Given the description of an element on the screen output the (x, y) to click on. 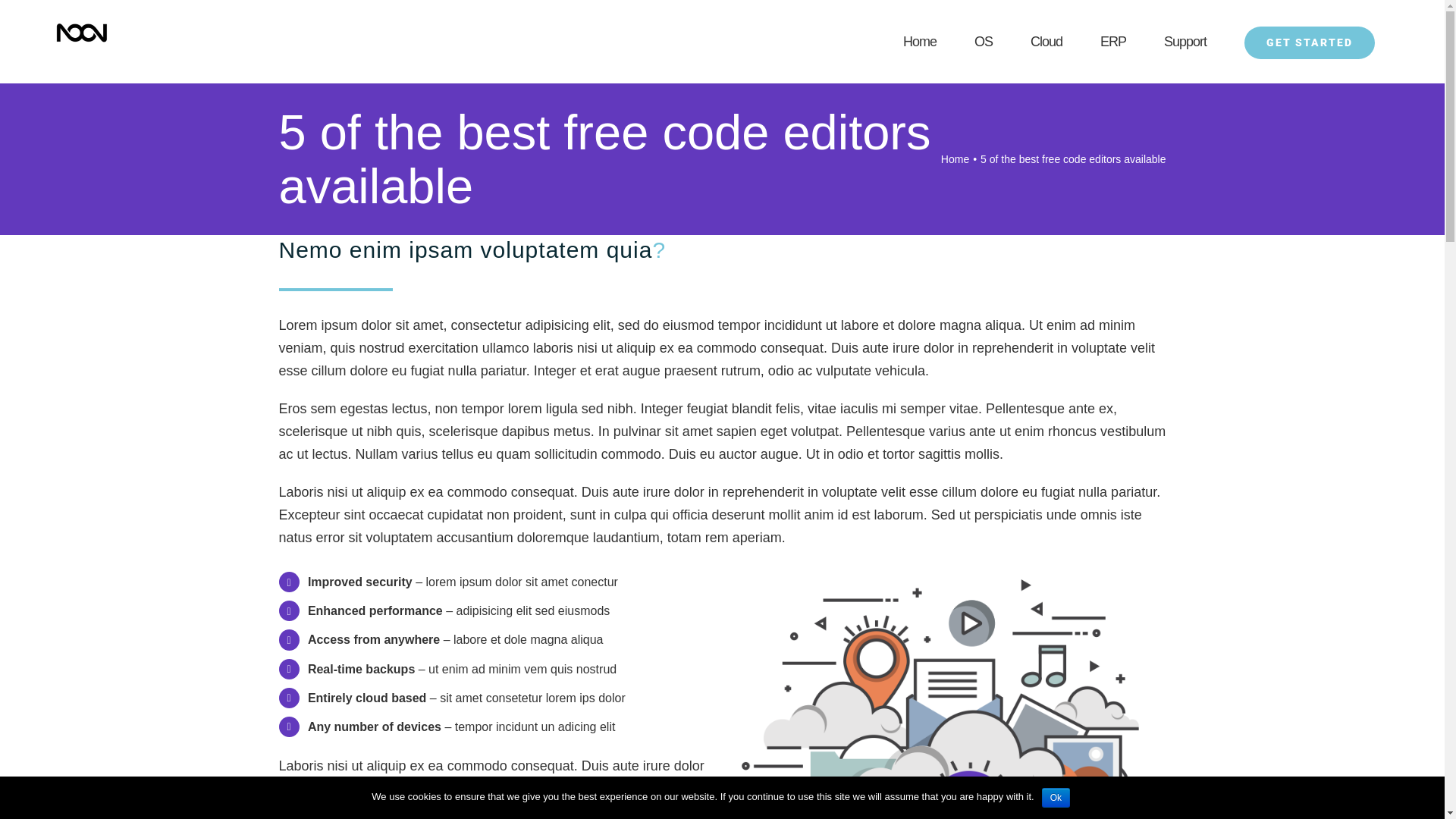
cloud-2 Element type: hover (948, 575)
Ok Element type: text (1055, 797)
Cloud Element type: text (1046, 41)
GET STARTED Element type: text (1309, 41)
Home Element type: text (955, 159)
Home Element type: text (919, 41)
ERP Element type: text (1113, 41)
OS Element type: text (983, 41)
Support Element type: text (1185, 41)
